Given the description of an element on the screen output the (x, y) to click on. 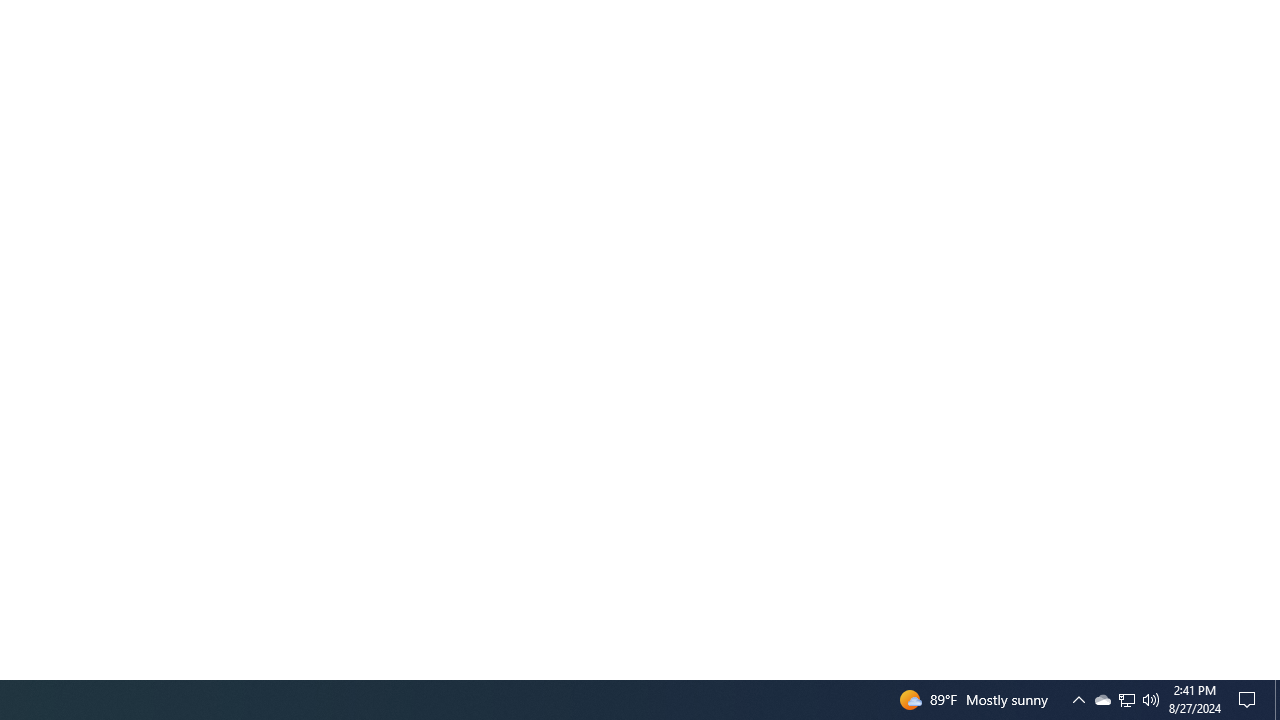
Show desktop (1277, 699)
Notification Chevron (1078, 699)
Action Center, No new notifications (1102, 699)
User Promoted Notification Area (1250, 699)
Q2790: 100% (1126, 699)
